Given the description of an element on the screen output the (x, y) to click on. 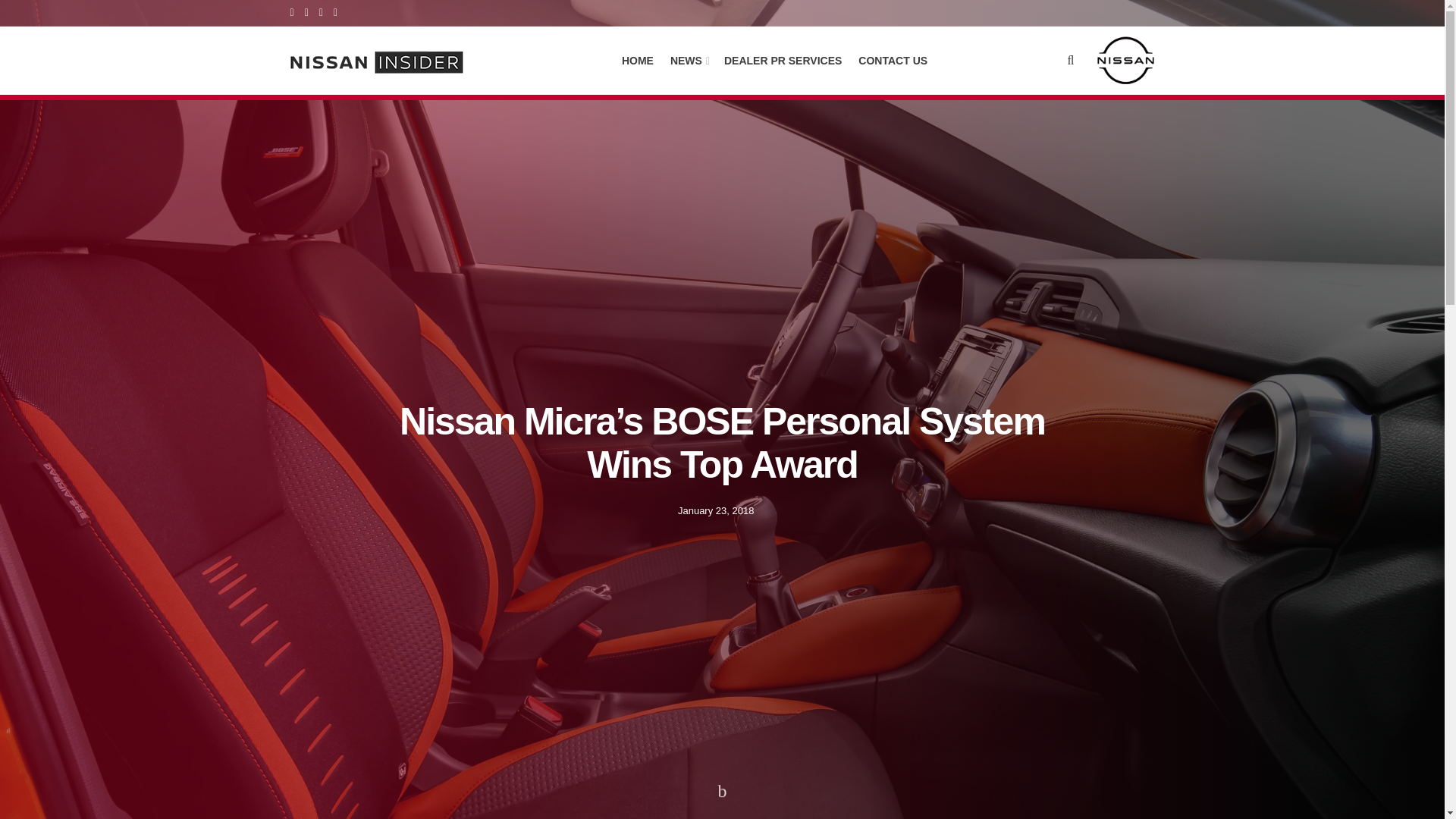
HOME (637, 60)
January 23, 2018 (716, 509)
CONTACT US (893, 60)
NEWS (688, 60)
DEALER PR SERVICES (782, 60)
